Given the description of an element on the screen output the (x, y) to click on. 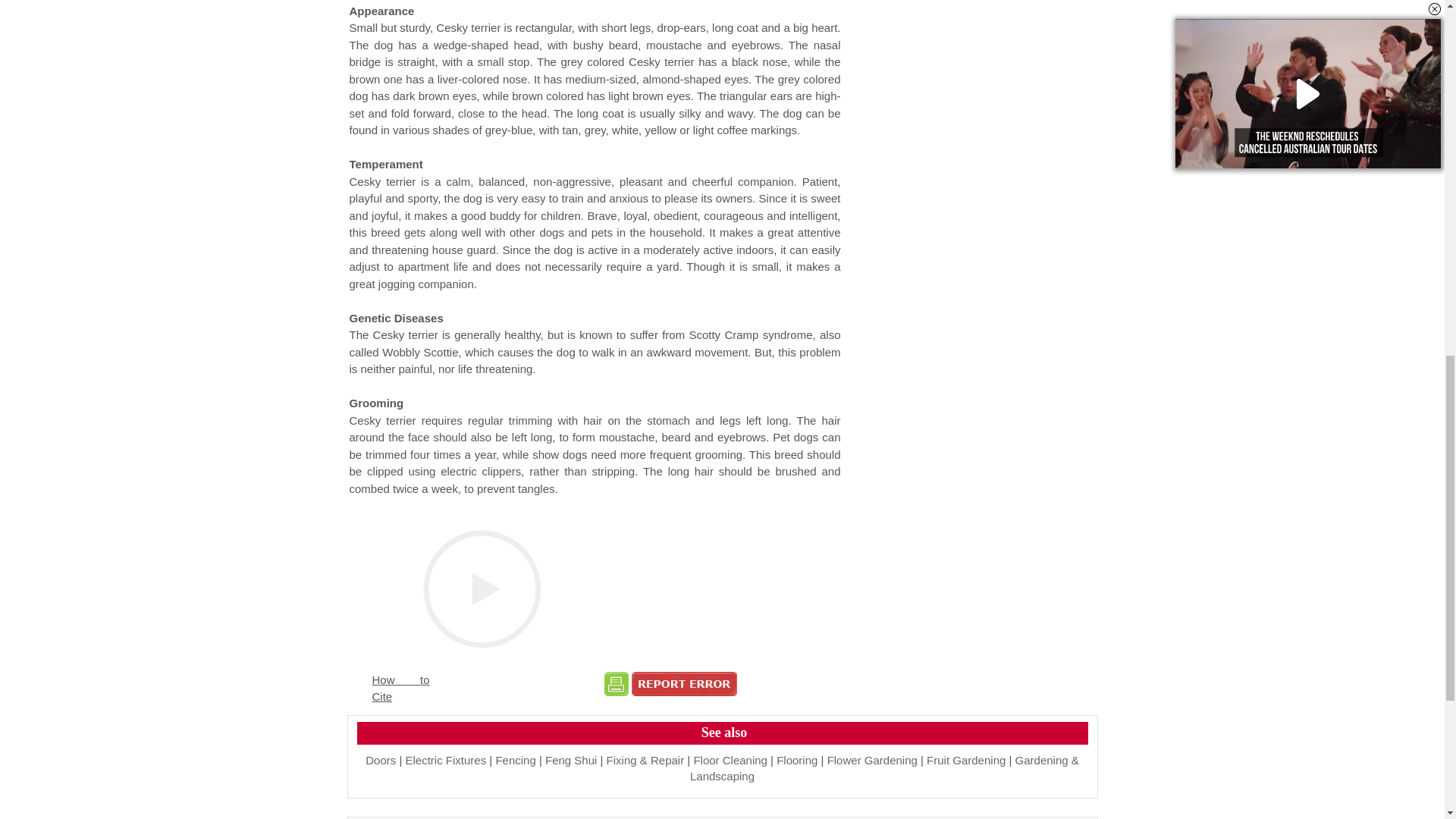
Doors (380, 759)
Floor Cleaning (730, 759)
Flower Gardening (872, 759)
Flooring (796, 759)
Electric Fixtures (445, 759)
Feng Shui (570, 759)
Fencing (515, 759)
